Given the description of an element on the screen output the (x, y) to click on. 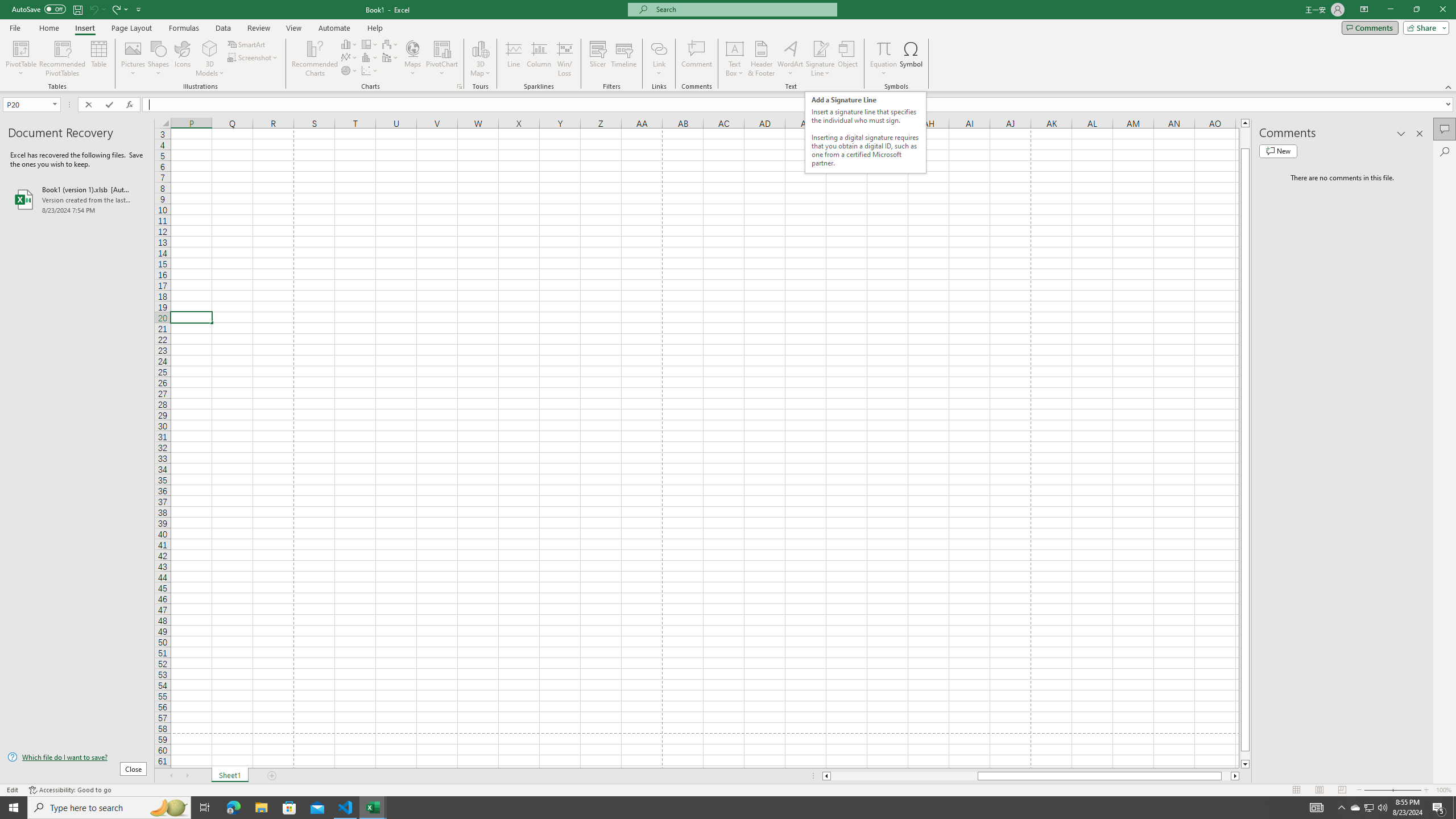
Link (659, 58)
Insert Column or Bar Chart (349, 44)
Signature Line (820, 48)
PivotChart (442, 58)
Symbol... (911, 58)
Recommended PivotTables (62, 58)
